Given the description of an element on the screen output the (x, y) to click on. 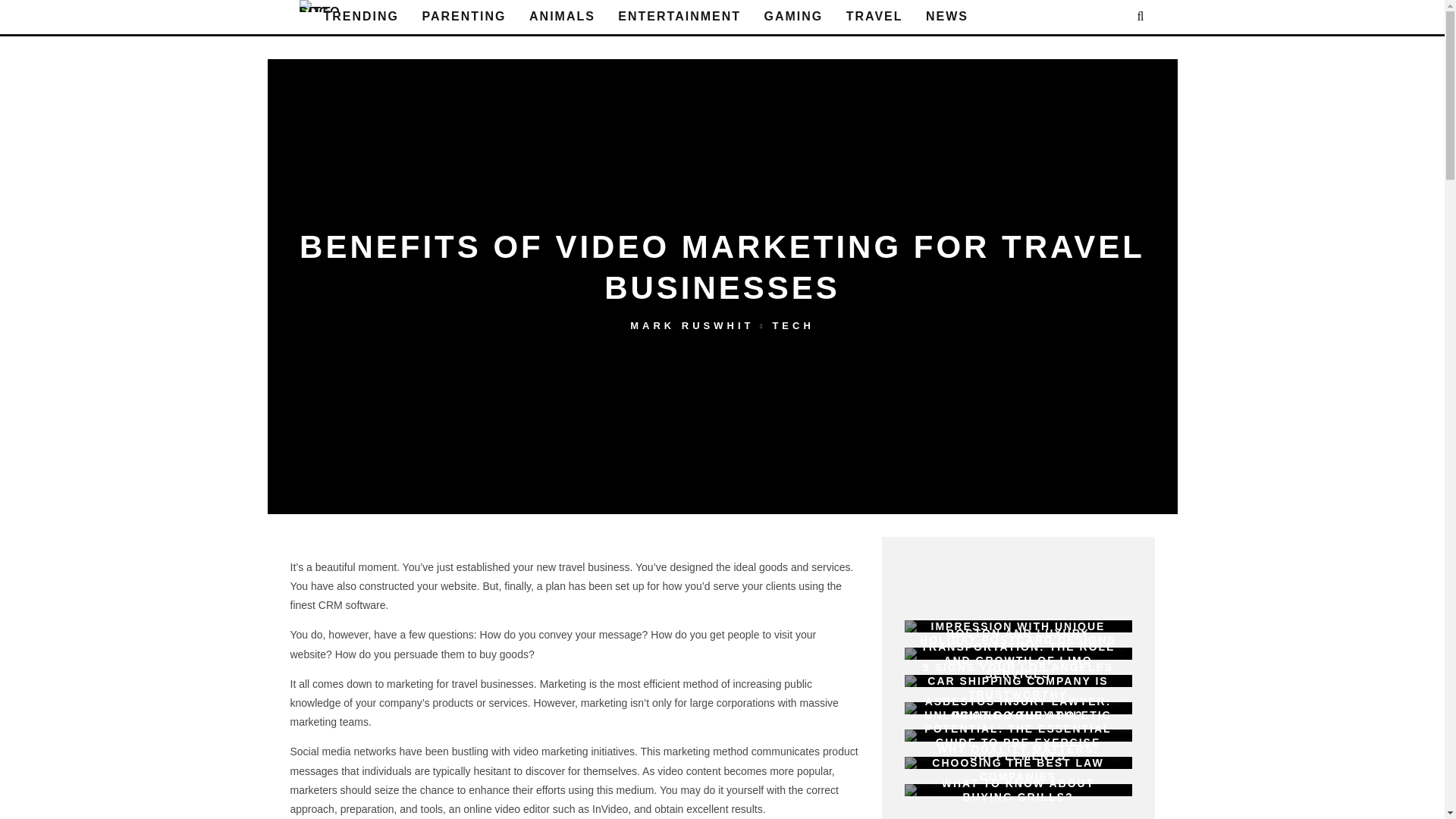
TRAVEL (874, 17)
TRENDING (360, 17)
PARENTING (464, 17)
GAMING (793, 17)
NEWS (946, 17)
ENTERTAINMENT (678, 17)
ANIMALS (561, 17)
